Given the description of an element on the screen output the (x, y) to click on. 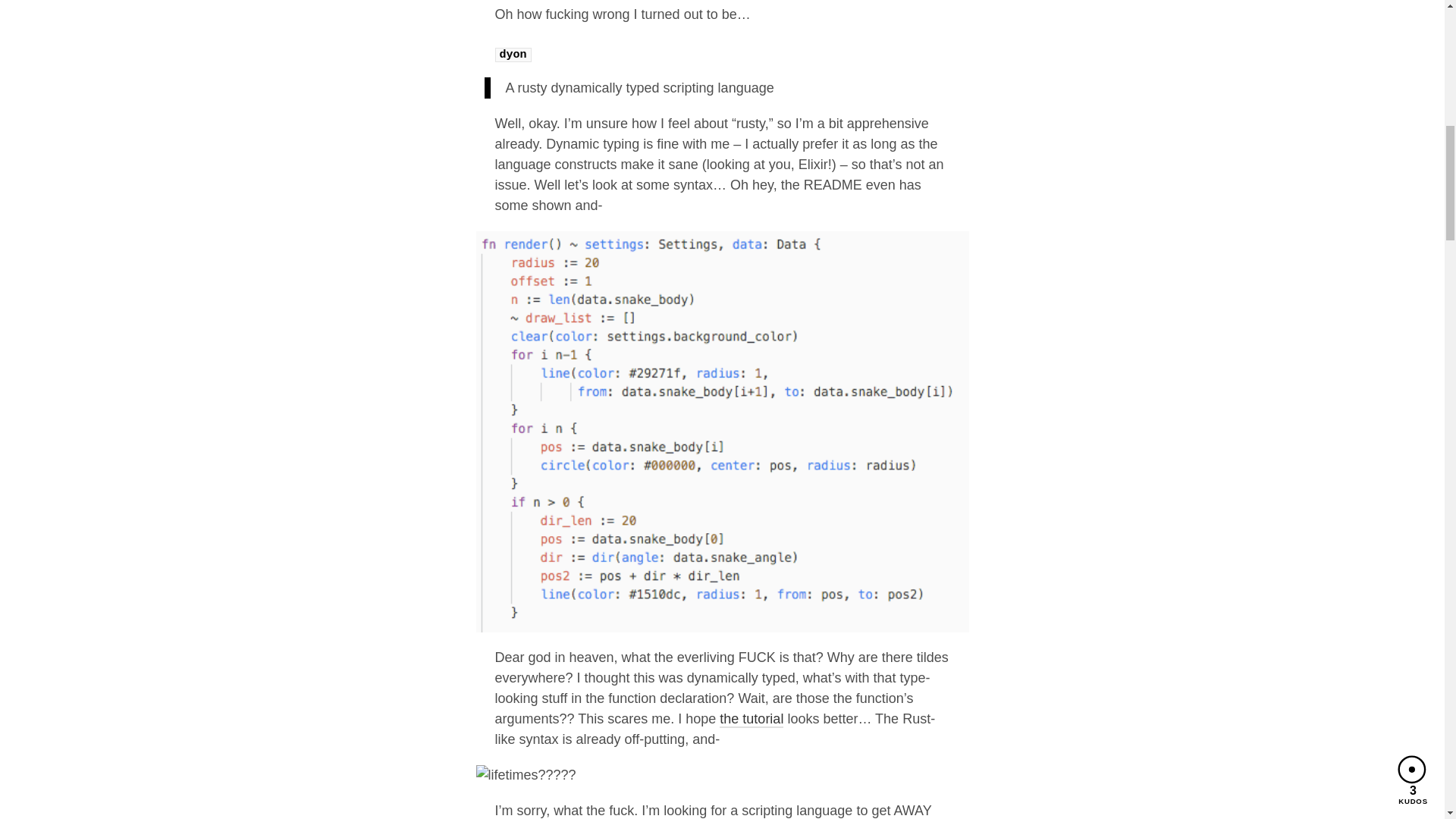
the tutorial (751, 719)
dyon (513, 50)
